Given the description of an element on the screen output the (x, y) to click on. 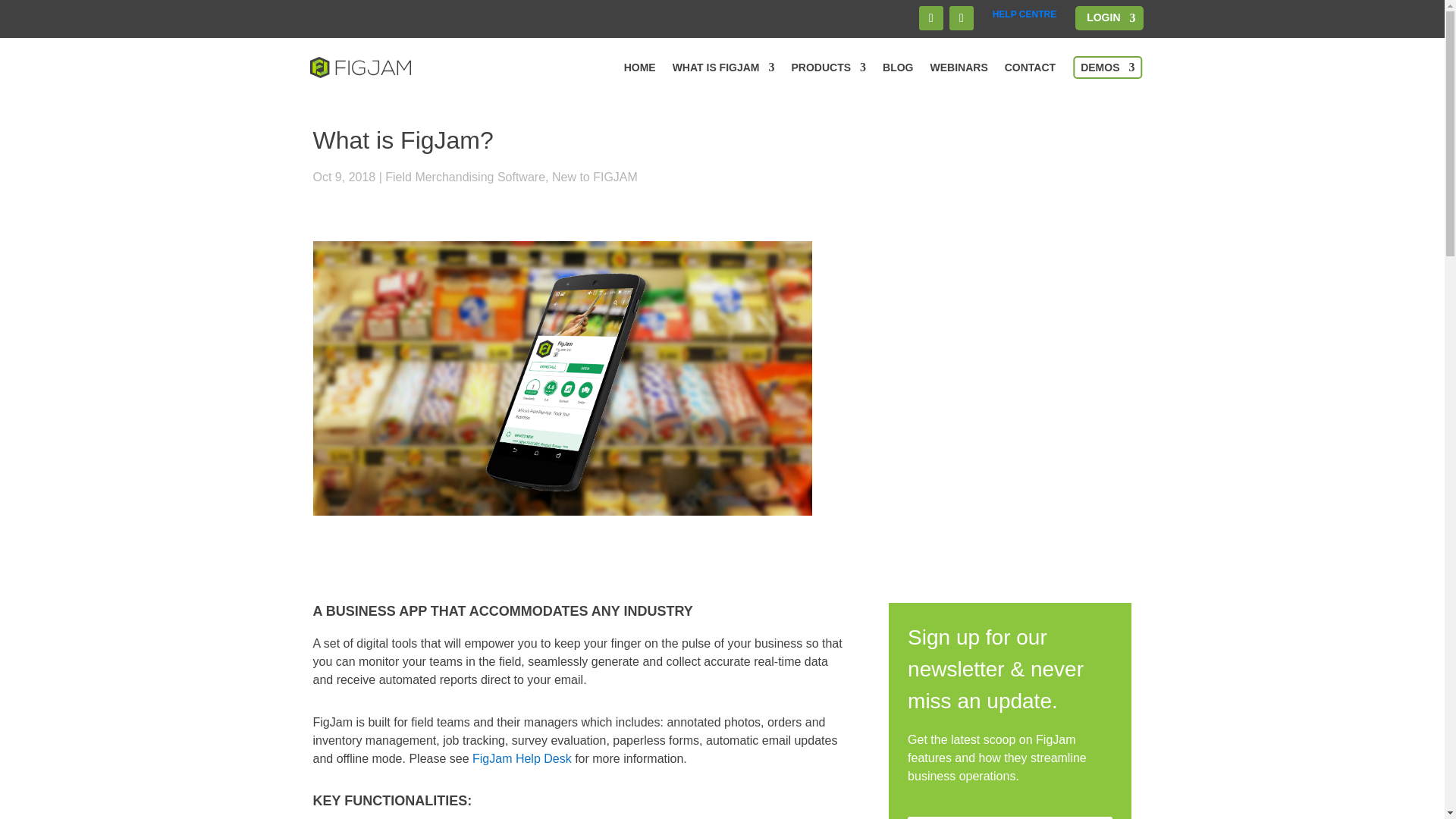
WEBINARS (959, 67)
Follow on Facebook (930, 17)
LOGIN (1110, 20)
Follow on LinkedIn (961, 17)
PRODUCTS (829, 67)
DEMOS (1107, 67)
HELP CENTRE (1024, 14)
WHAT IS FIGJAM (723, 67)
